Given the description of an element on the screen output the (x, y) to click on. 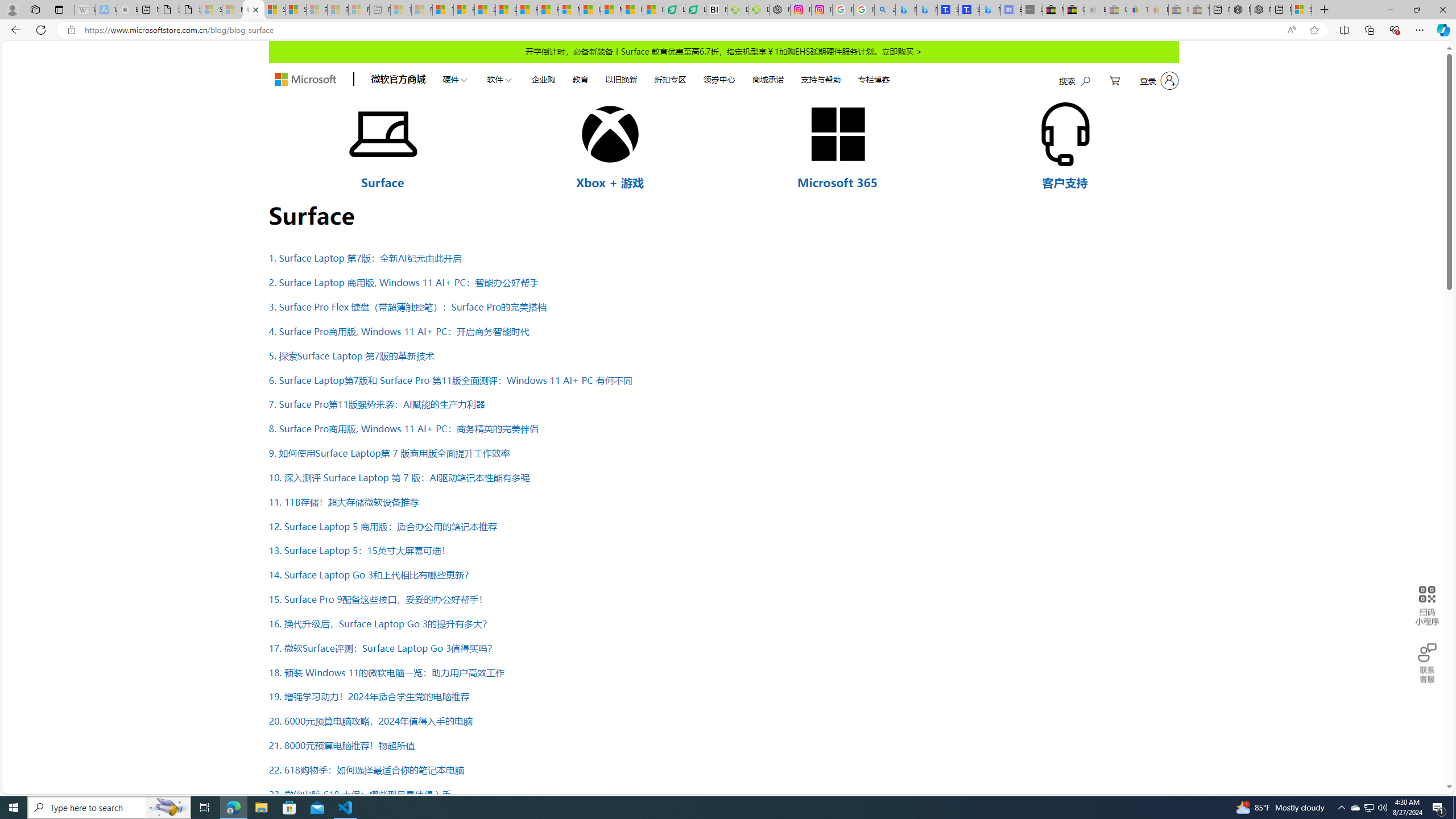
Sign in to your Microsoft account (1301, 9)
Nordace - Nordace Edin Collection (779, 9)
Microsoft Services Agreement - Sleeping (231, 9)
Payments Terms of Use | eBay.com - Sleeping (1157, 9)
Nvidia va a poner a prueba la paciencia de los inversores (716, 9)
Press Room - eBay Inc. - Sleeping (1178, 9)
Buy iPad - Apple - Sleeping (127, 9)
alabama high school quarterback dies - Search (884, 9)
